Given the description of an element on the screen output the (x, y) to click on. 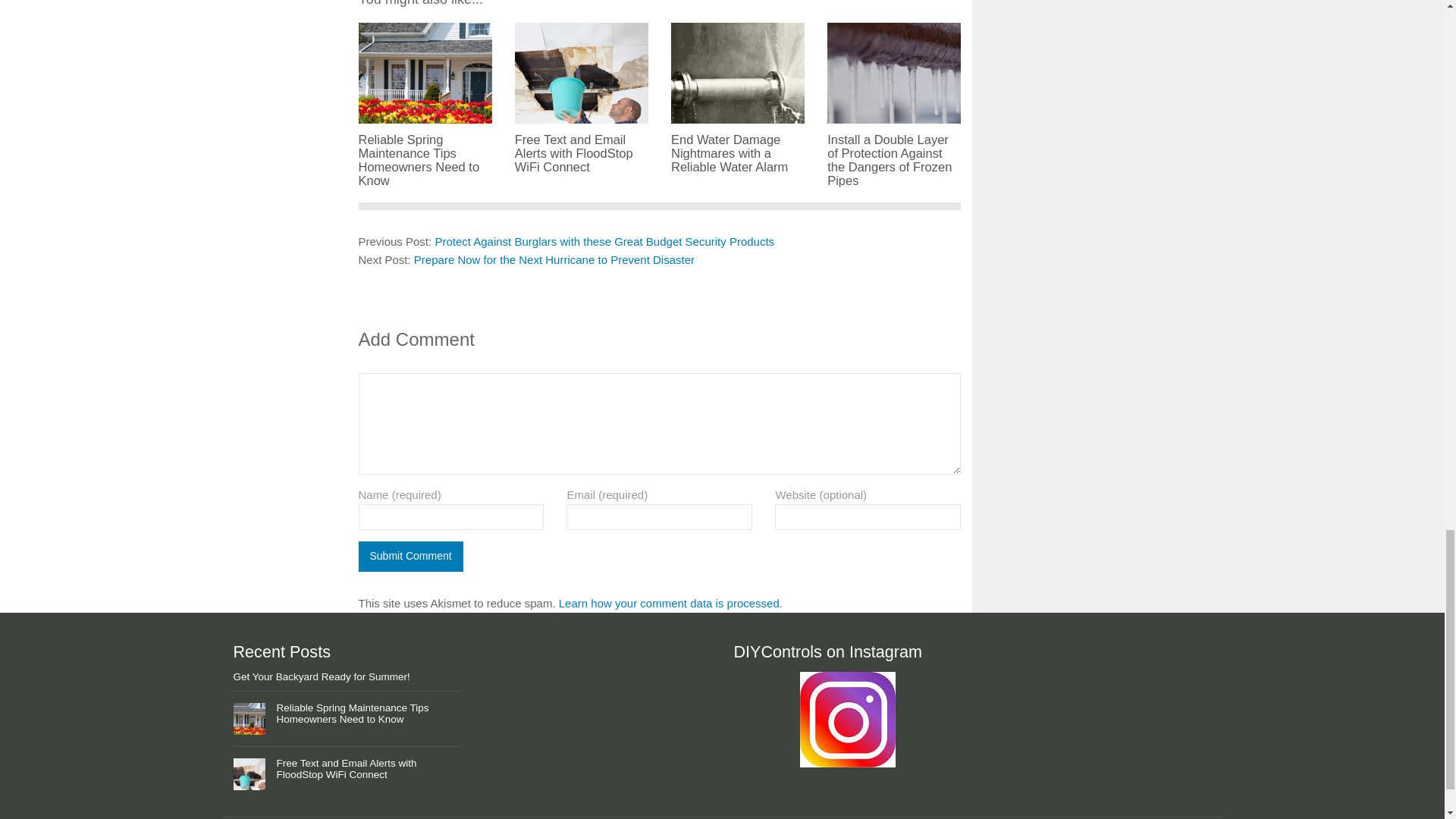
Free Text and Email Alerts with FloodStop WiFi Connect (581, 145)
Reliable Spring Maintenance Tips Homeowners Need to Know (425, 152)
End Water Damage Nightmares with a Reliable Water Alarm (738, 145)
